Given the description of an element on the screen output the (x, y) to click on. 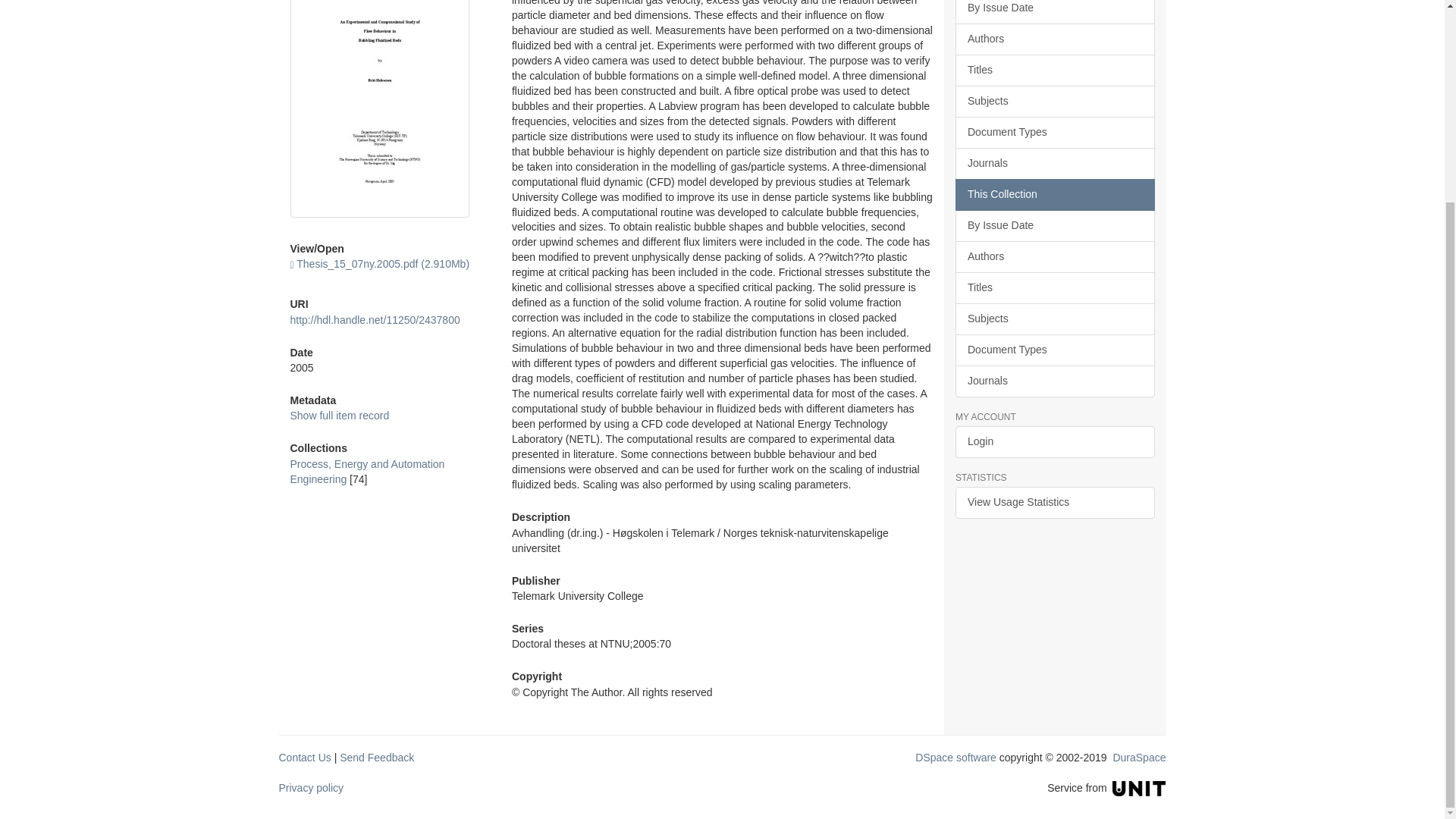
By Issue Date (1054, 12)
Journals (1054, 163)
Subjects (1054, 101)
Process, Energy and Automation Engineering (366, 471)
Authors (1054, 39)
Titles (1054, 70)
Document Types (1054, 132)
Unit (1139, 787)
Show full item record (338, 415)
